Given the description of an element on the screen output the (x, y) to click on. 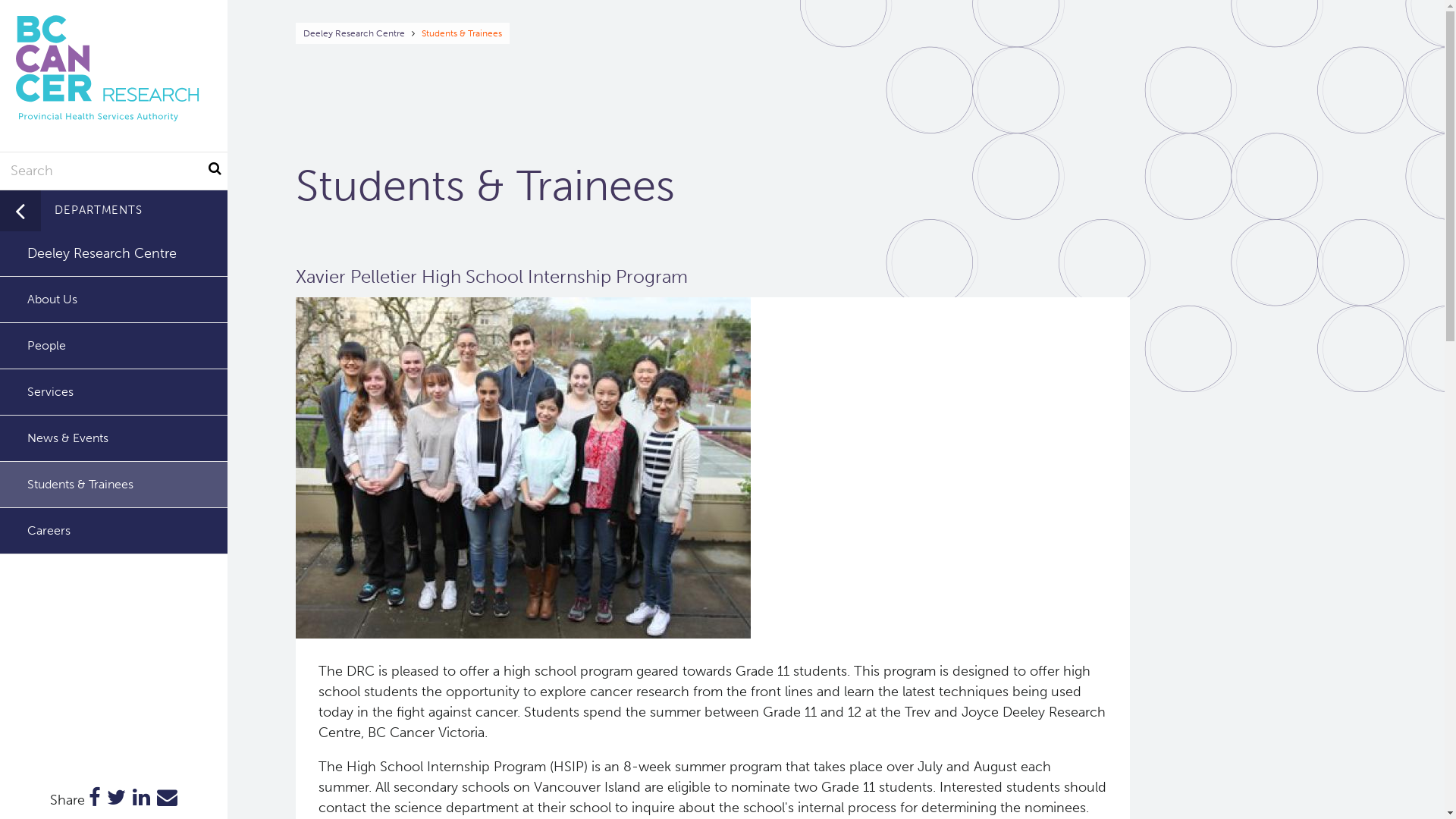
DEPARTMENTS Element type: text (113, 210)
Services Element type: text (113, 391)
Deeley Research Centre Element type: text (113, 253)
Careers Element type: text (113, 530)
People Element type: text (113, 345)
Deeley Research Centre Element type: text (353, 33)
Students & Trainees Element type: text (113, 484)
Enter the terms you wish to search for. Element type: hover (113, 170)
News & Events Element type: text (113, 437)
Skip to main content Element type: text (0, 0)
About Us Element type: text (113, 299)
